Given the description of an element on the screen output the (x, y) to click on. 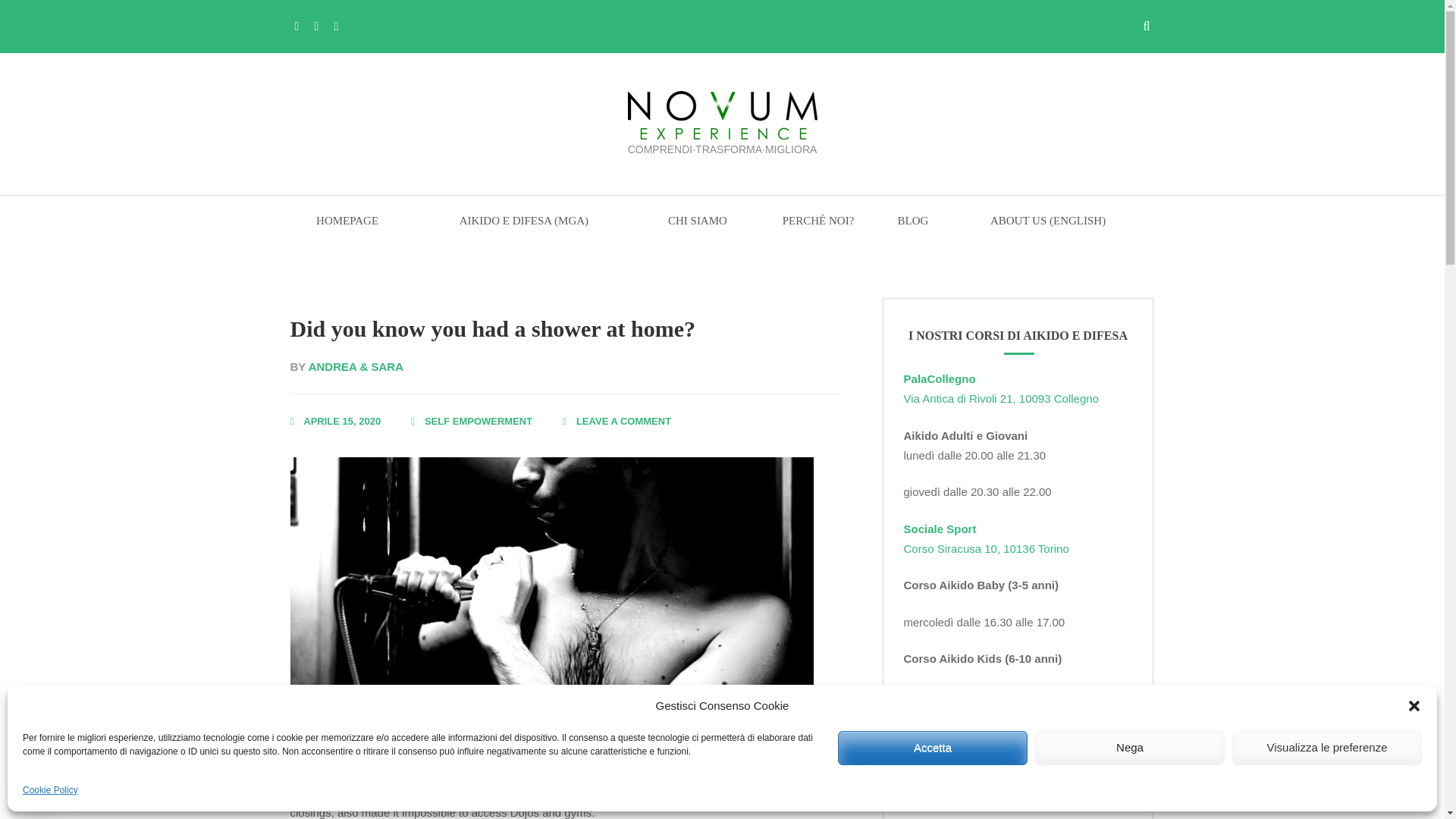
BLOG (911, 227)
HOMEPAGE (623, 420)
APRILE 15, 2020 (346, 227)
SELF EMPOWERMENT (341, 420)
CHI SIAMO (478, 420)
